Given the description of an element on the screen output the (x, y) to click on. 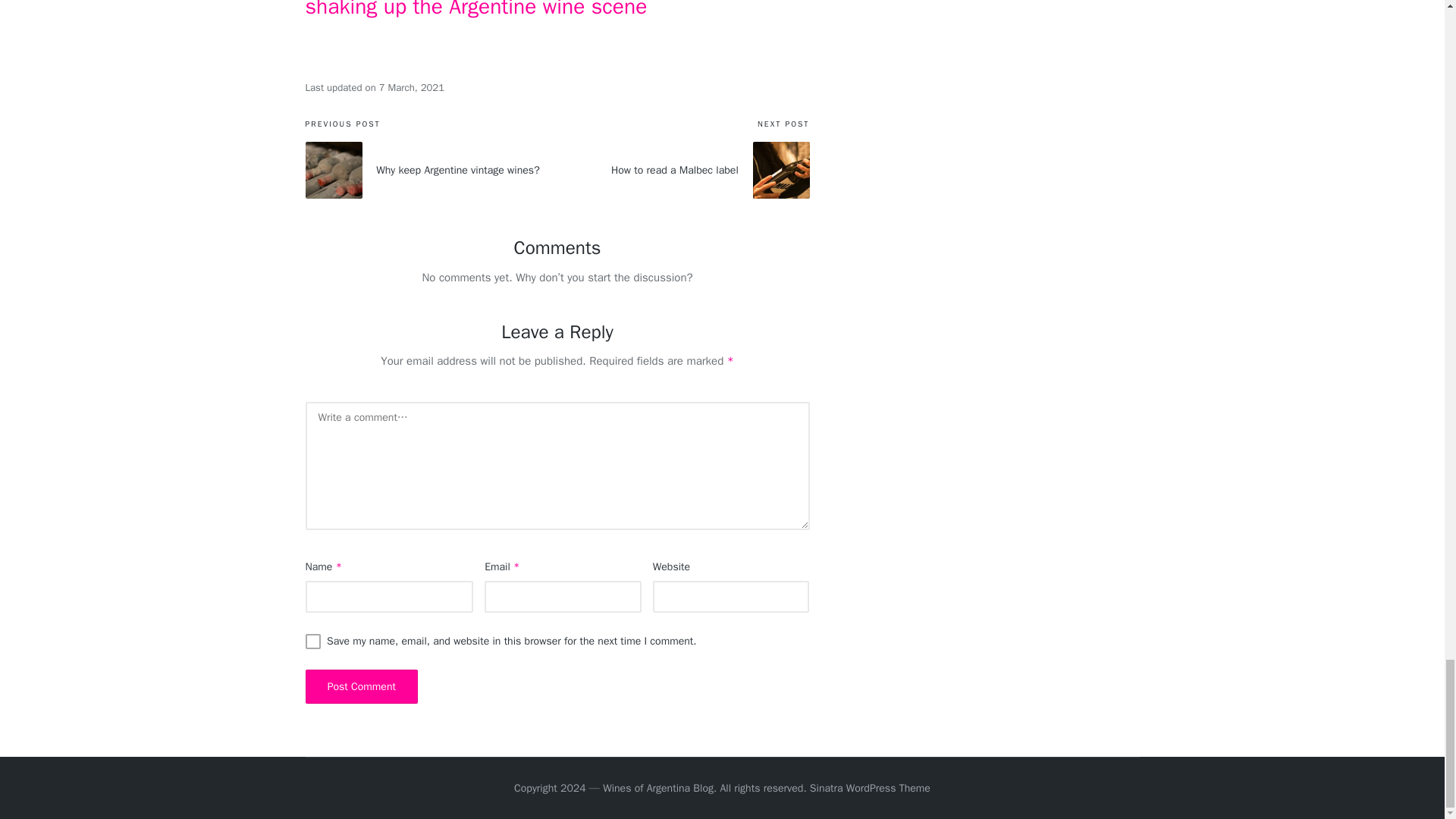
yes (312, 641)
How to read a Malbec label (683, 170)
12 women shaking up the Argentine wine scene (544, 9)
Why keep Argentine vintage wines? (430, 170)
Post Comment (360, 686)
Post Comment (360, 686)
